Given the description of an element on the screen output the (x, y) to click on. 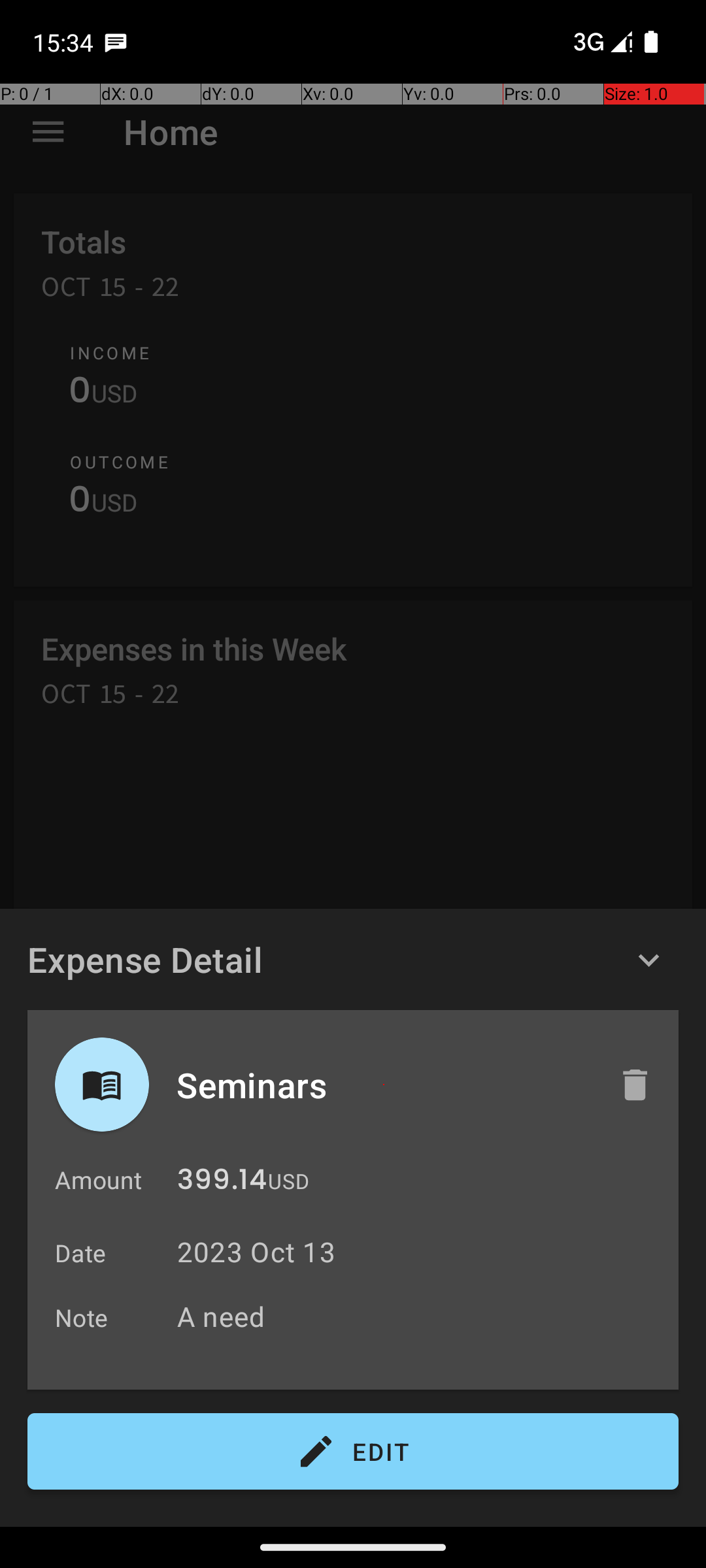
Seminars Element type: android.widget.TextView (383, 1084)
399.14 Element type: android.widget.TextView (221, 1182)
SMS Messenger notification: Martin Chen Element type: android.widget.ImageView (115, 41)
